Given the description of an element on the screen output the (x, y) to click on. 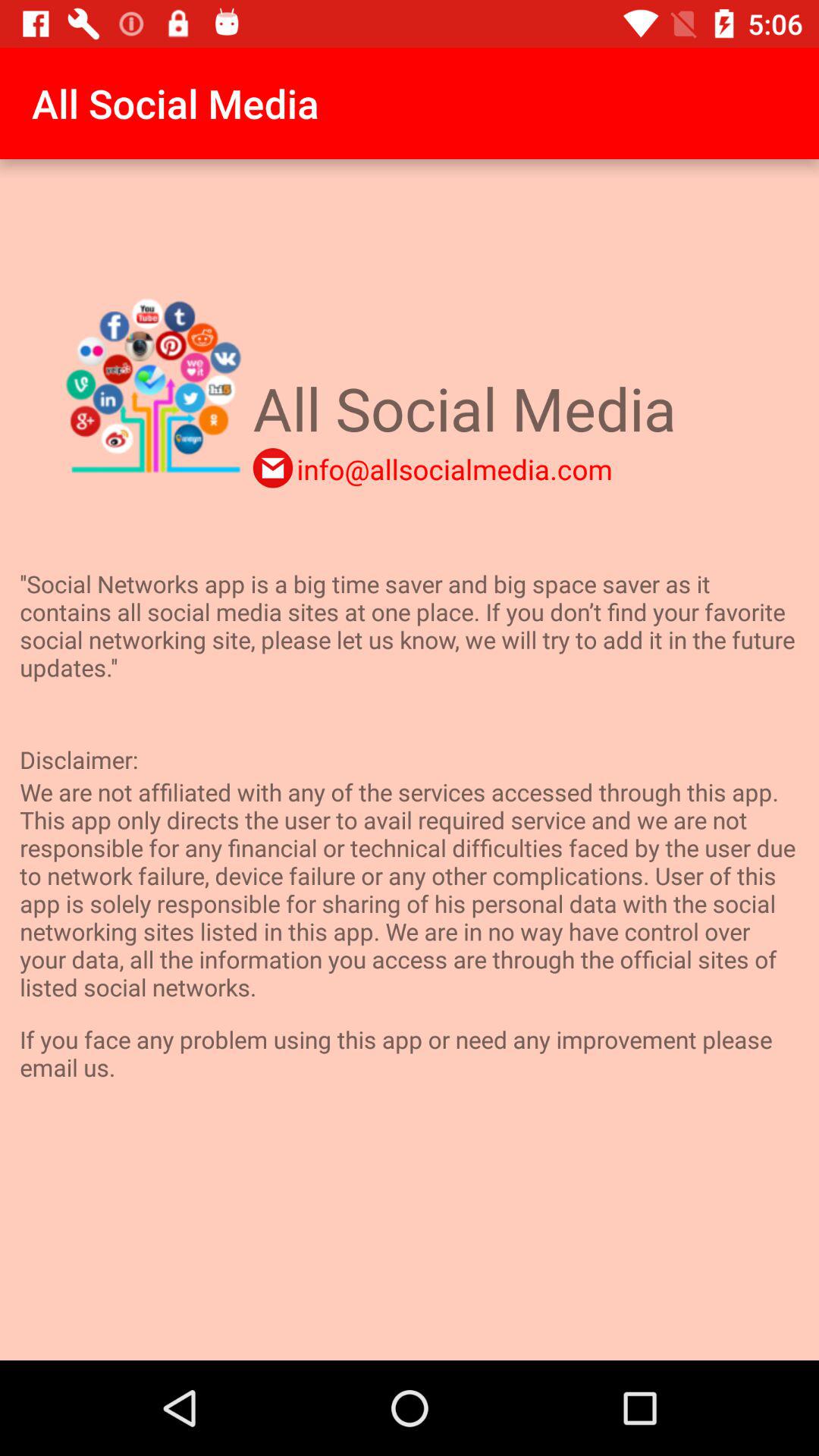
choose item below the all social media (454, 468)
